Given the description of an element on the screen output the (x, y) to click on. 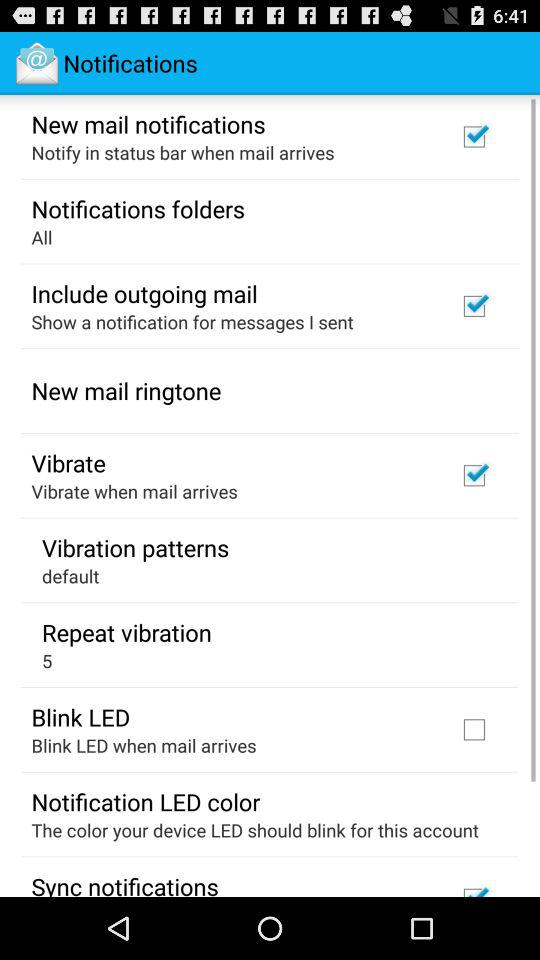
turn off the include outgoing mail item (144, 293)
